Given the description of an element on the screen output the (x, y) to click on. 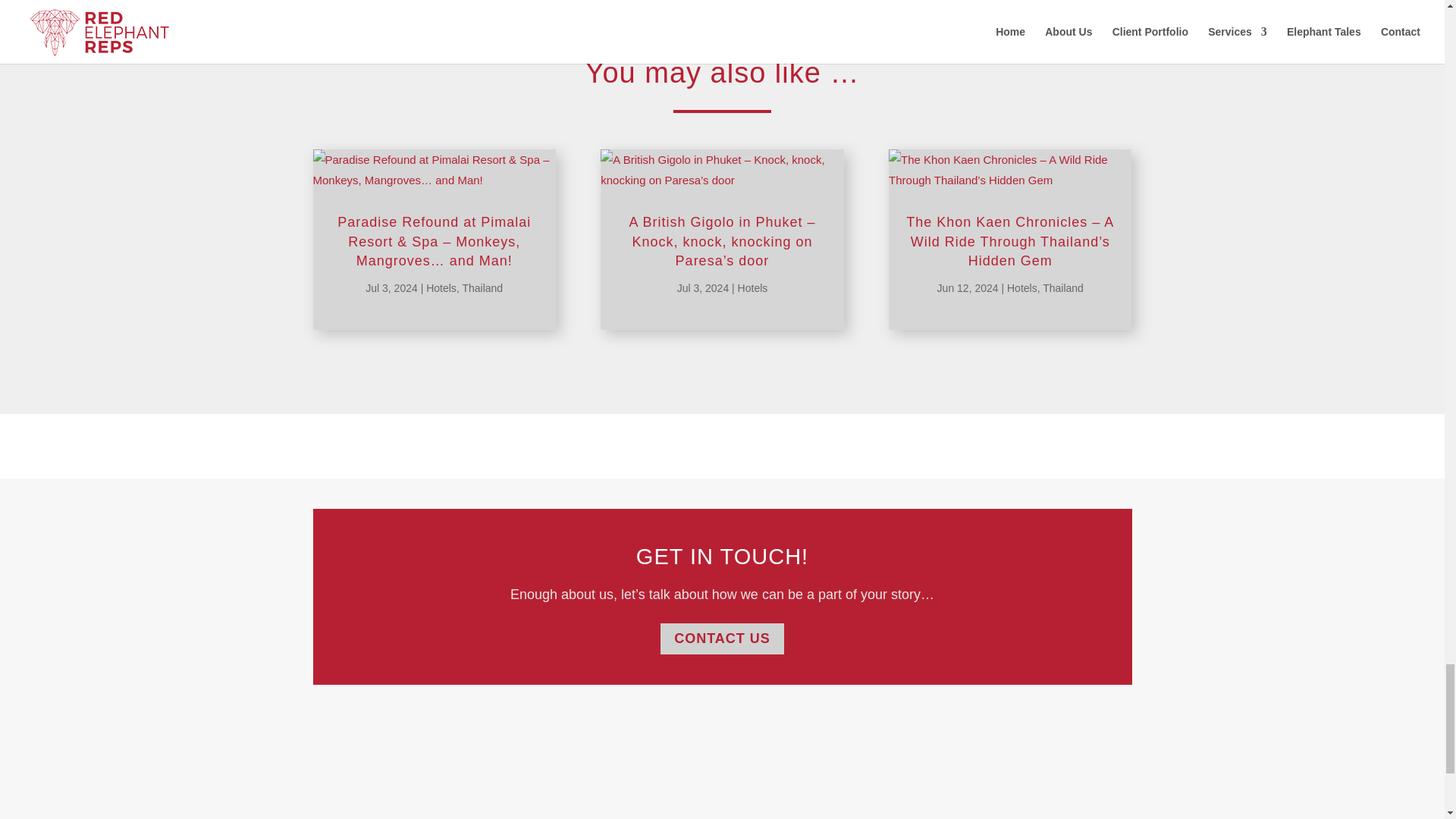
Thailand (1062, 287)
Hotels (1021, 287)
Hotels (753, 287)
Thailand (481, 287)
Hotels (441, 287)
CONTACT US (722, 638)
